Given the description of an element on the screen output the (x, y) to click on. 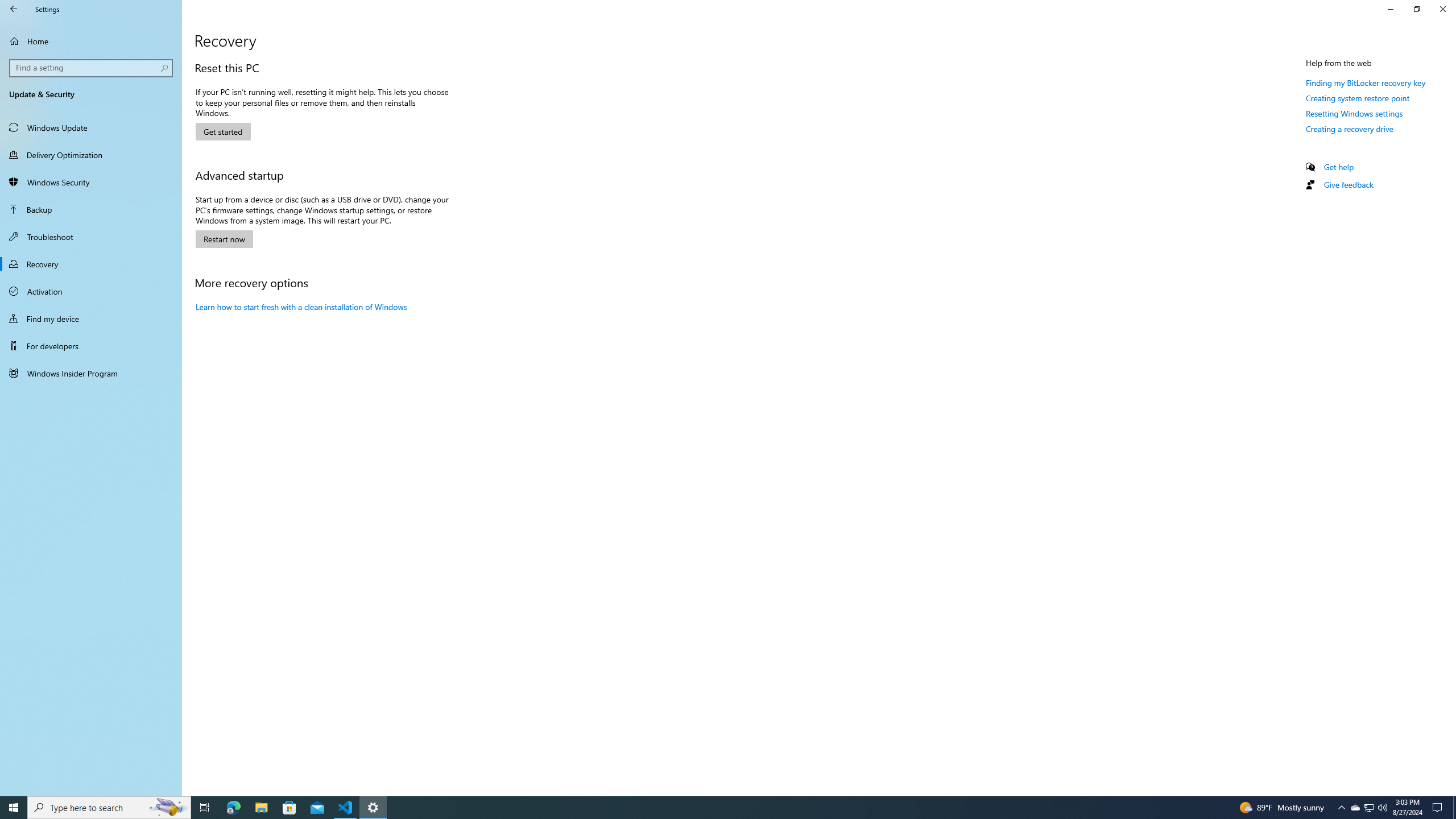
Show desktop (1454, 807)
Resetting Windows settings (1354, 113)
For developers (91, 345)
Restore Settings (1416, 9)
Finding my BitLocker recovery key (1365, 82)
Give feedback (1348, 184)
Recovery (91, 263)
Home (91, 40)
Running applications (1368, 807)
Windows Security (717, 807)
Minimize Settings (91, 181)
